Given the description of an element on the screen output the (x, y) to click on. 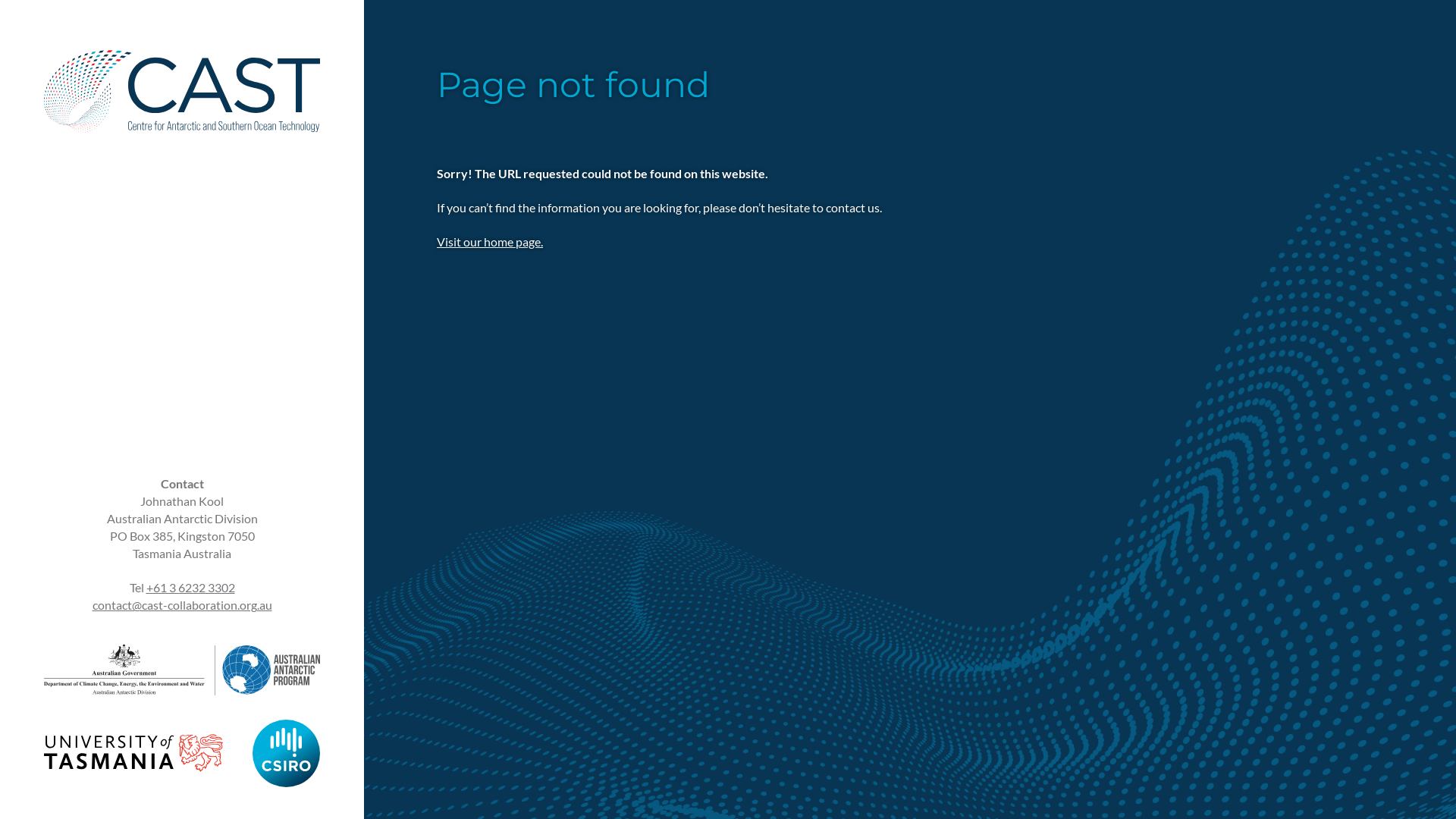
+61 3 6232 3302 Element type: text (189, 587)
contact@cast-collaboration.org.au Element type: text (182, 604)
Visit our home page. Element type: text (489, 241)
